Given the description of an element on the screen output the (x, y) to click on. 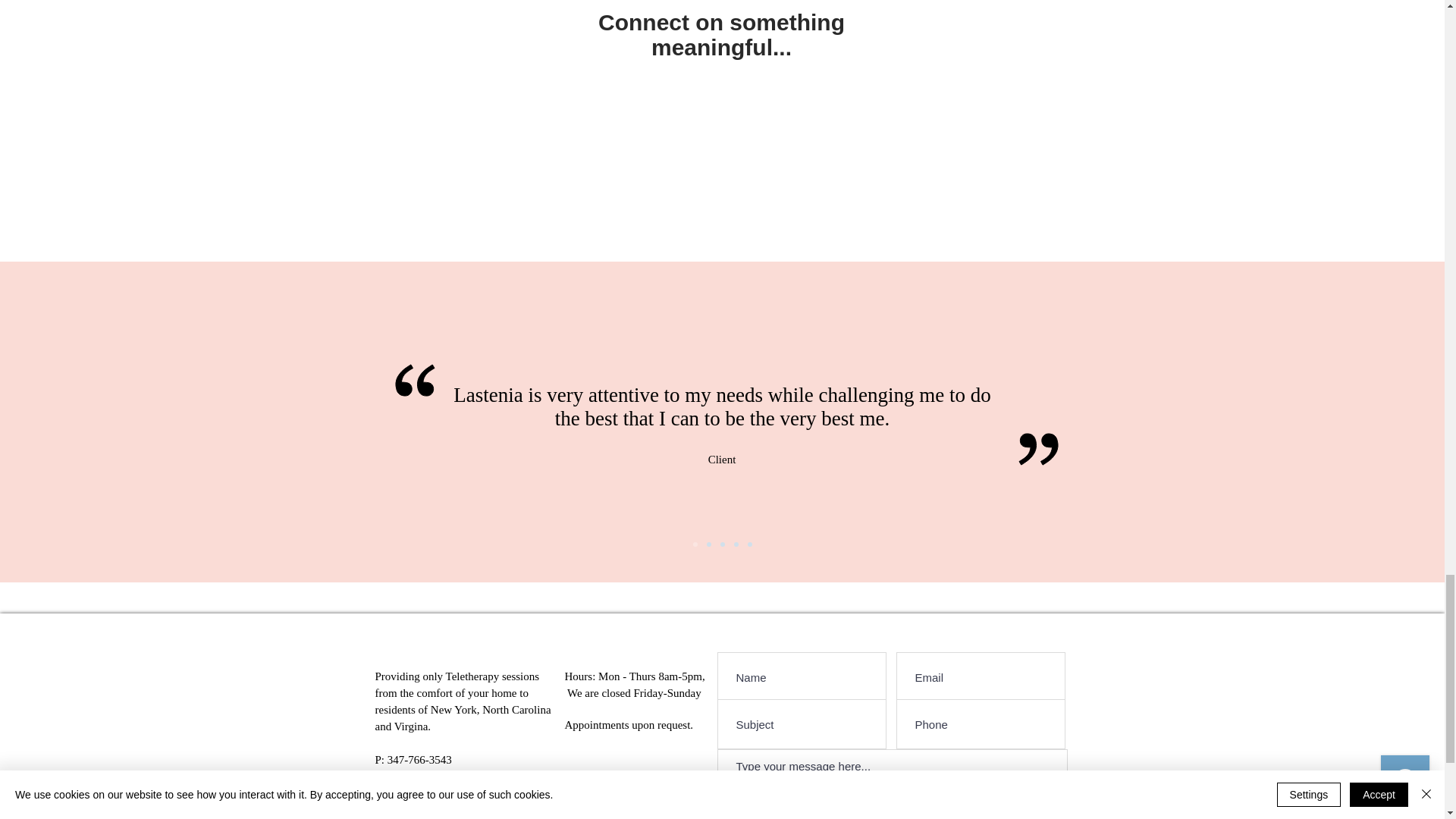
Instagram Feed (721, 153)
